Given the description of an element on the screen output the (x, y) to click on. 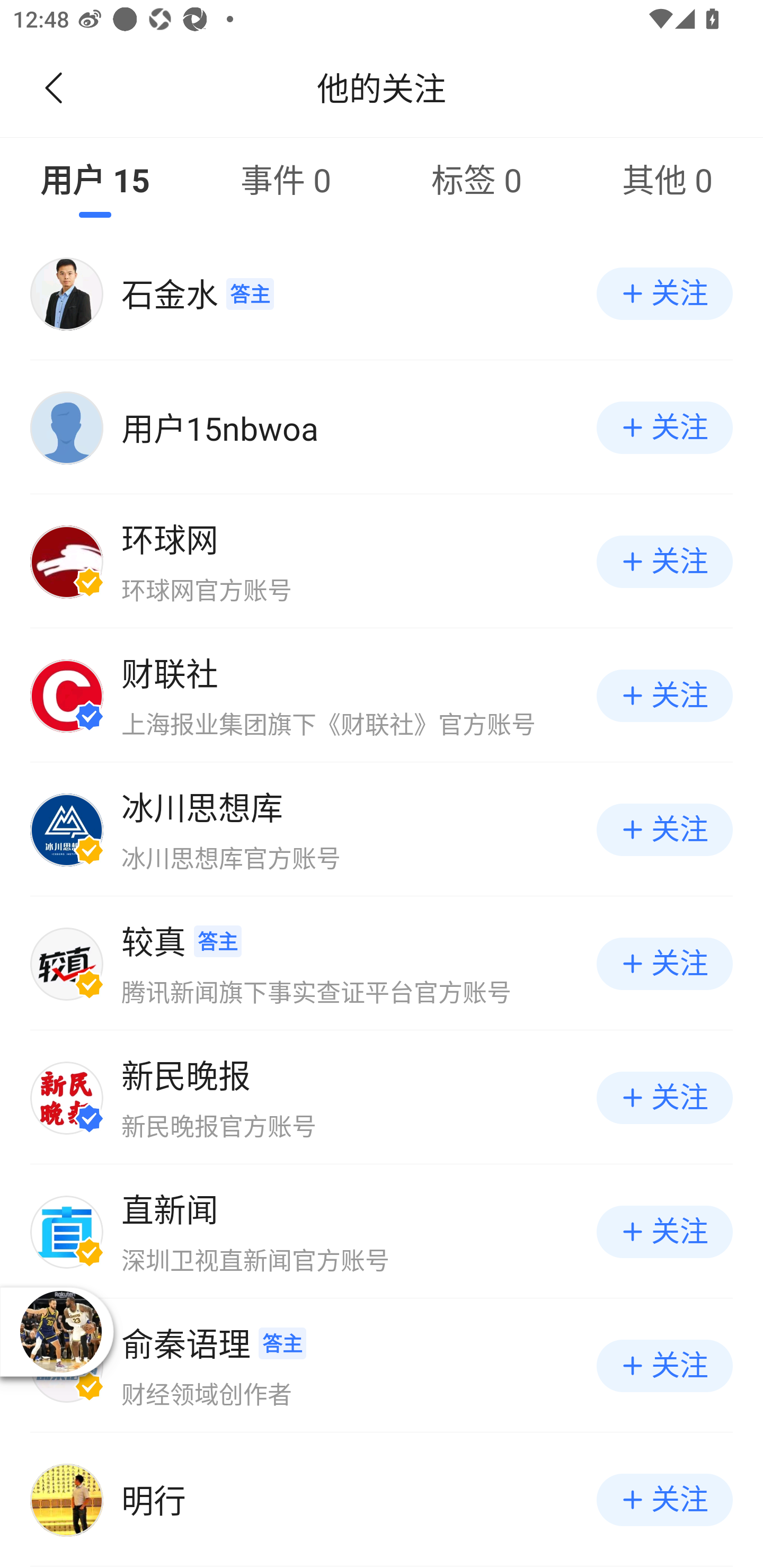
返回，可点击 (49, 87)
已选中用户&nbsp;15 (95, 179)
事件&nbsp;0，可选中 (285, 179)
标签&nbsp;0，可选中 (476, 179)
其他&nbsp;0，可选中 (667, 179)
头像，可点击 用户：石金水  关注 (381, 293)
 关注 (664, 293)
头像，可点击 用户：用户15nbwoa  关注 (381, 427)
 关注 (664, 427)
头像，可点击 用户：环球网 环球网官方账号  关注 (381, 561)
 关注 (664, 562)
头像，可点击 用户：财联社 上海报业集团旗下《财联社》官方账号  关注 (381, 695)
 关注 (664, 695)
头像，可点击 用户：冰川思想库 冰川思想库官方账号  关注 (381, 829)
 关注 (664, 829)
头像，可点击 用户：较真 腾讯新闻旗下事实查证平台官方账号  关注 (381, 963)
 关注 (664, 963)
头像，可点击 用户：新民晚报 新民晚报官方账号  关注 (381, 1097)
 关注 (664, 1097)
头像，可点击 用户：直新闻 深圳卫视直新闻官方账号  关注 (381, 1231)
 关注 (664, 1231)
播放器 (60, 1331)
头像，可点击 用户：俞秦语理 财经领域创作者  关注 (381, 1365)
 关注 (664, 1365)
头像，可点击 用户：明行  关注 (381, 1499)
 关注 (664, 1499)
